Given the description of an element on the screen output the (x, y) to click on. 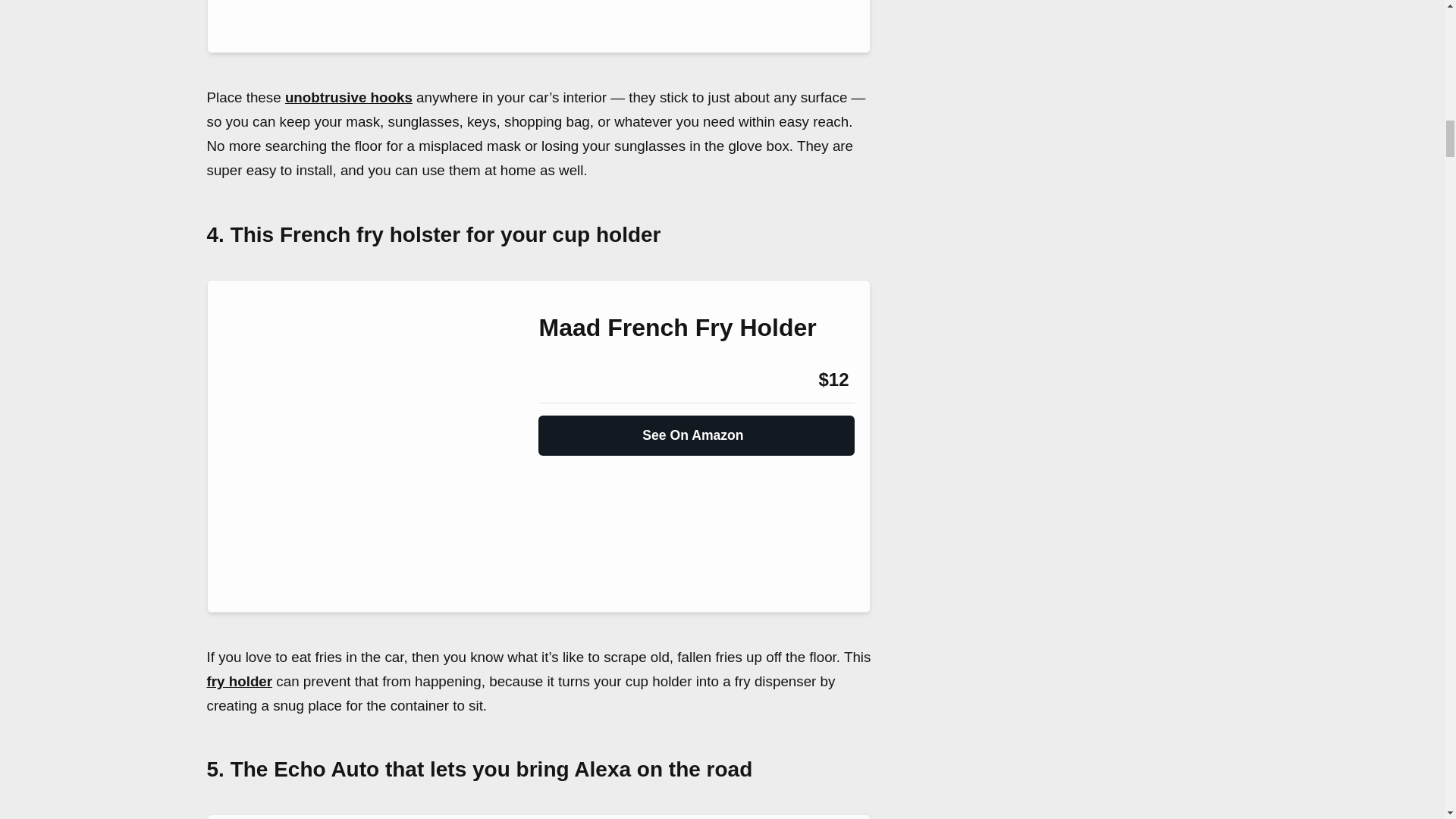
See On Amazon (696, 428)
fry holder (239, 681)
Amazon (579, 380)
unobtrusive hooks (348, 97)
